Given the description of an element on the screen output the (x, y) to click on. 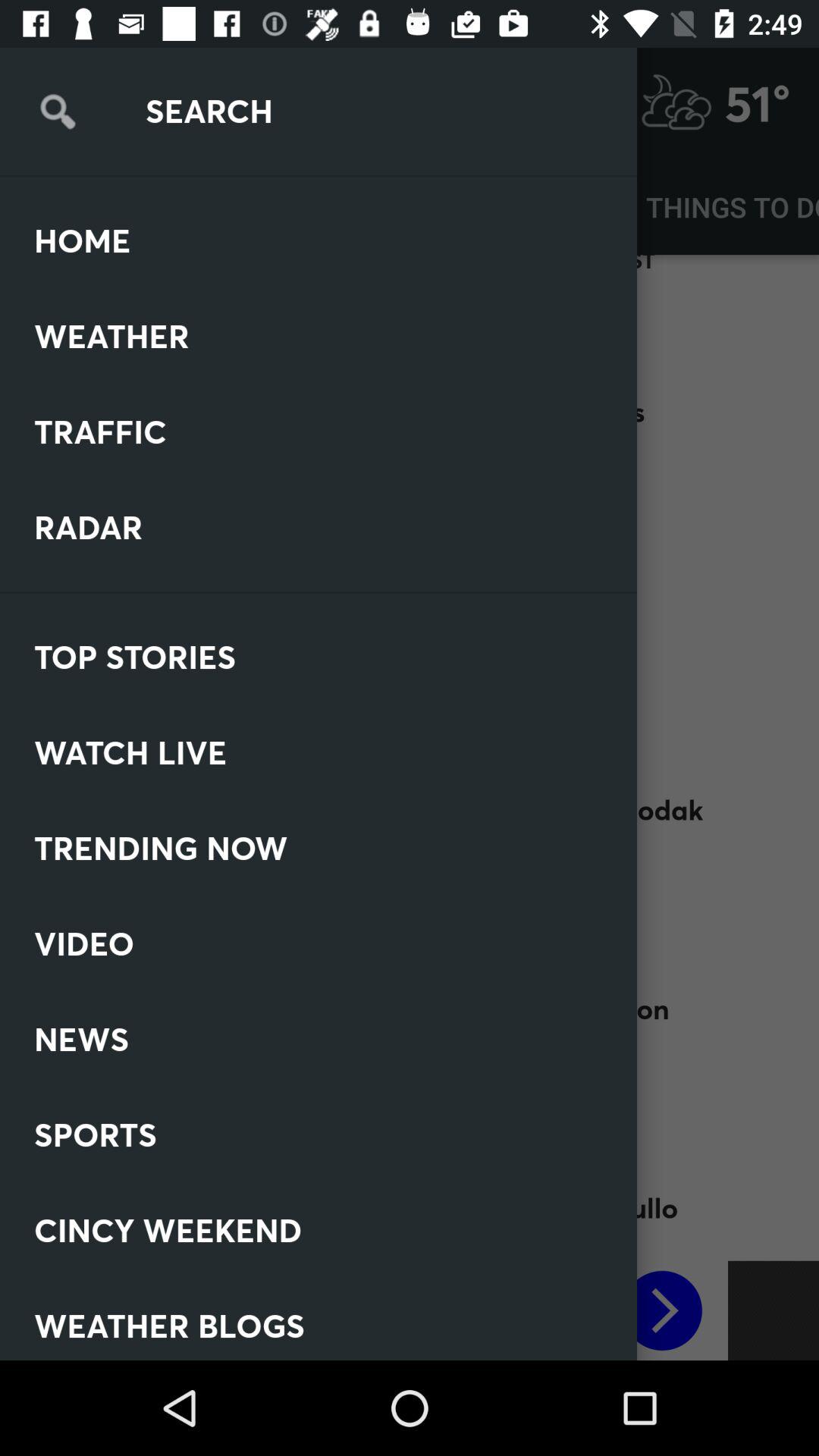
select the text below home (151, 300)
